Given the description of an element on the screen output the (x, y) to click on. 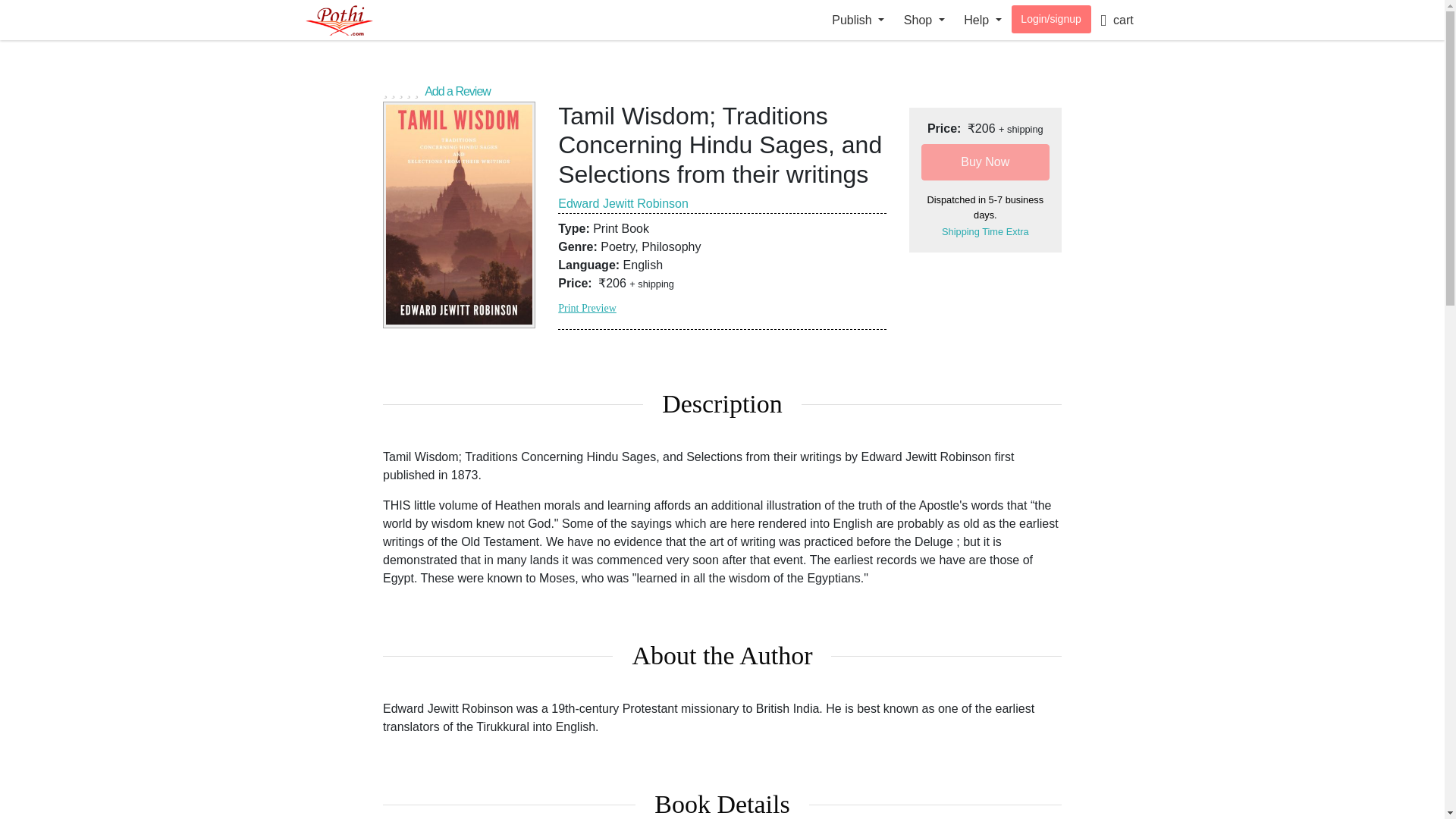
Help (983, 20)
Shipping Time Extra (985, 231)
Publish (857, 20)
Print Preview (586, 307)
Buy Now (985, 162)
Add a Review (721, 89)
Edward Jewitt Robinson (622, 203)
  cart (1116, 20)
Shop (923, 20)
pothi.com (354, 20)
